Given the description of an element on the screen output the (x, y) to click on. 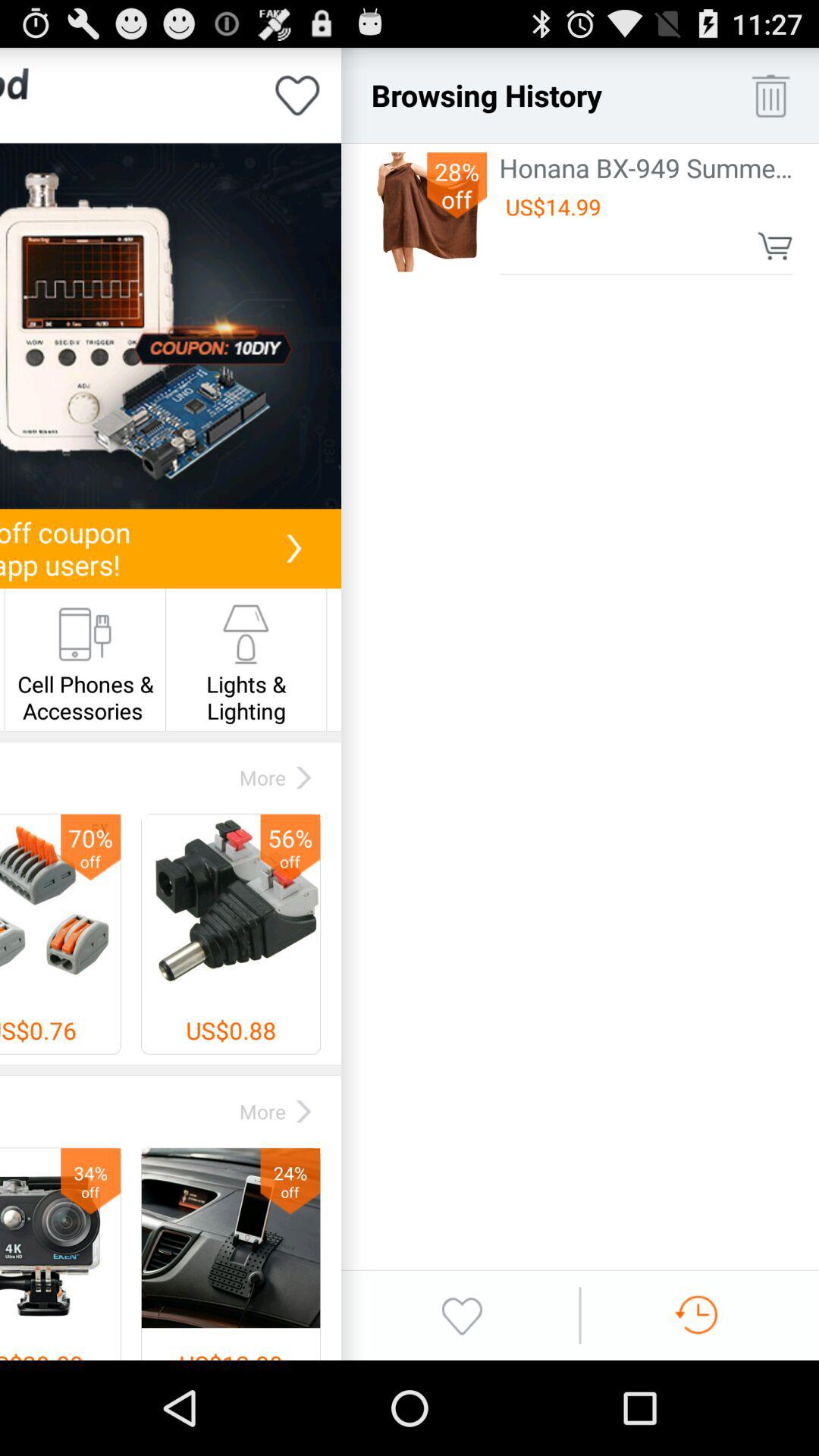
open item below the us$14.99 icon (774, 245)
